Given the description of an element on the screen output the (x, y) to click on. 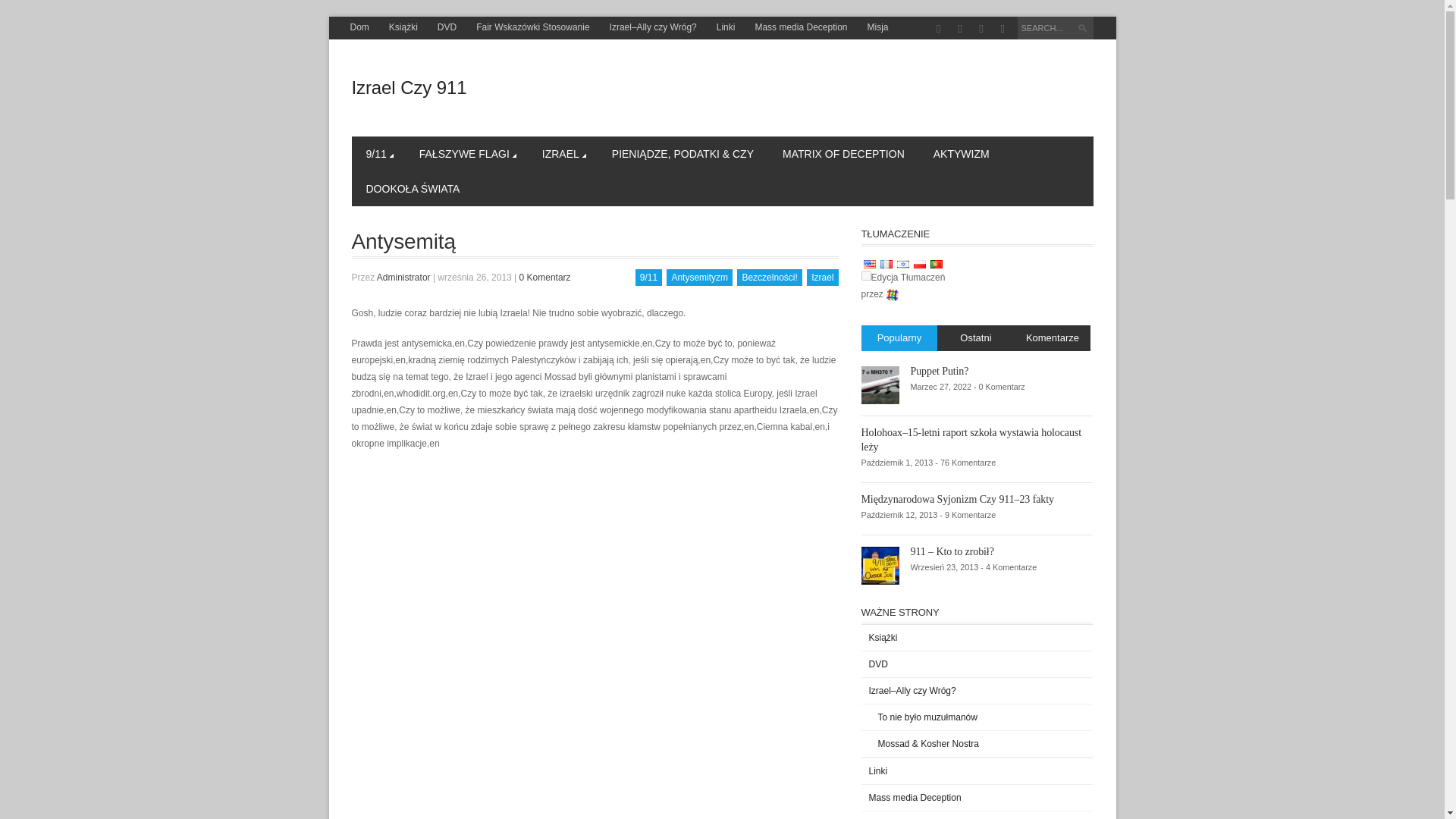
Misja (877, 27)
1 (865, 275)
Permalink do Puppet Putin? (880, 384)
Transposh - translate wordpress (892, 295)
Dom (358, 27)
Linkedin (1002, 29)
Google Plus (960, 29)
Szukaj (1084, 30)
Linki (725, 27)
Szukaj (1084, 30)
DVD (446, 27)
Izrael Czy 911 (409, 86)
SEARCH... (1055, 27)
Facebook (937, 29)
Puppet Putin? (939, 370)
